Given the description of an element on the screen output the (x, y) to click on. 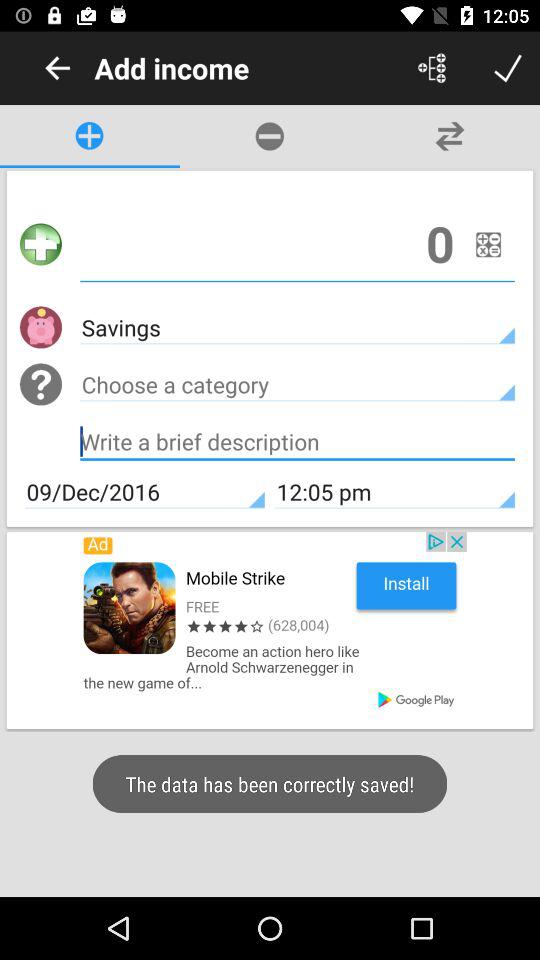
add income (297, 244)
